Given the description of an element on the screen output the (x, y) to click on. 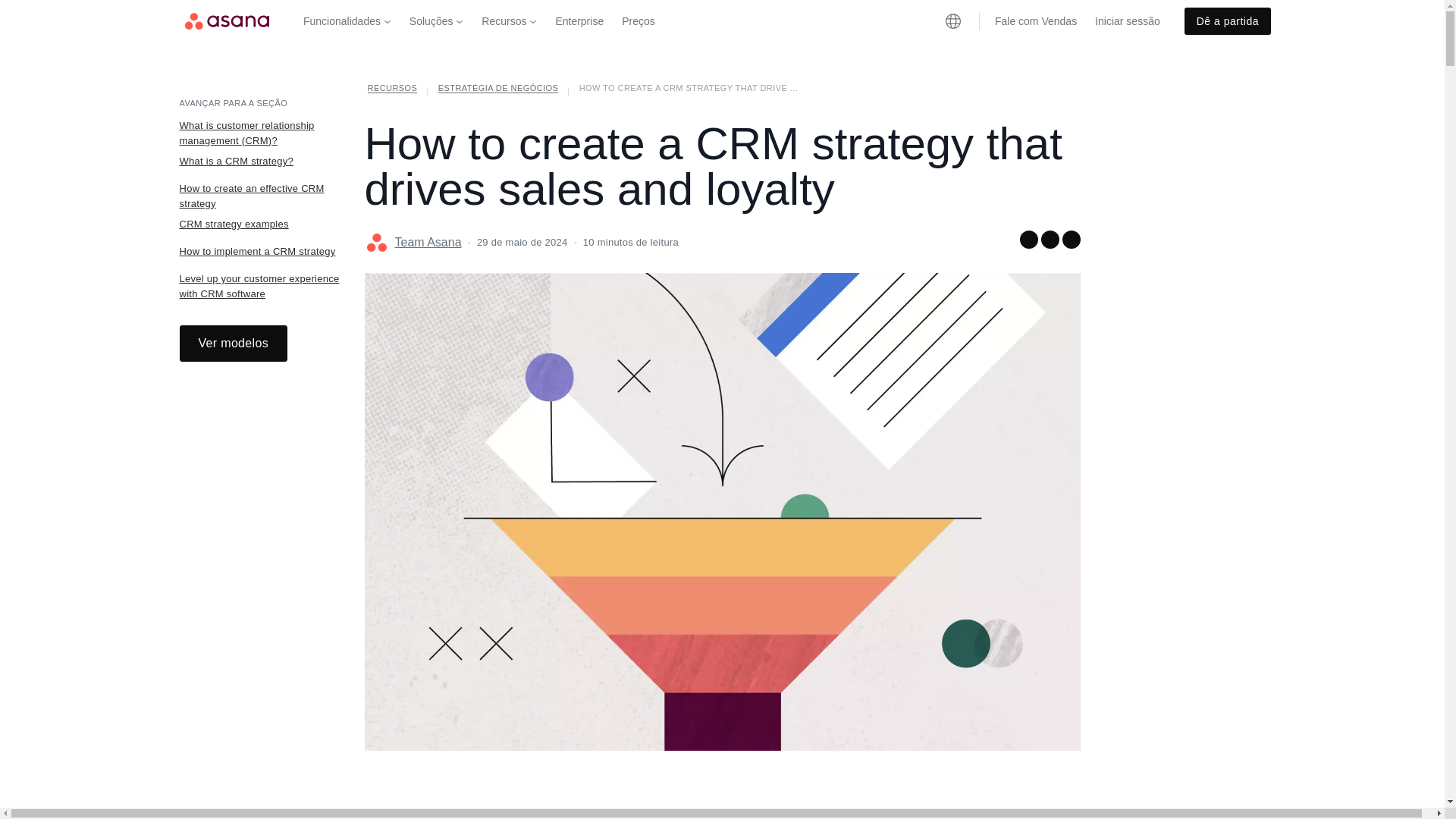
chevron-down icon (533, 21)
Team Asana (427, 242)
How to create a CRM strategy that drive ... (689, 90)
Enterprise (579, 21)
Recursos chevron-down icon (508, 21)
Recursos (392, 90)
Funcionalidades chevron-down icon (347, 21)
Fale com Vendas (1035, 21)
chevron-down icon (459, 21)
chevron-down icon (387, 21)
